Given the description of an element on the screen output the (x, y) to click on. 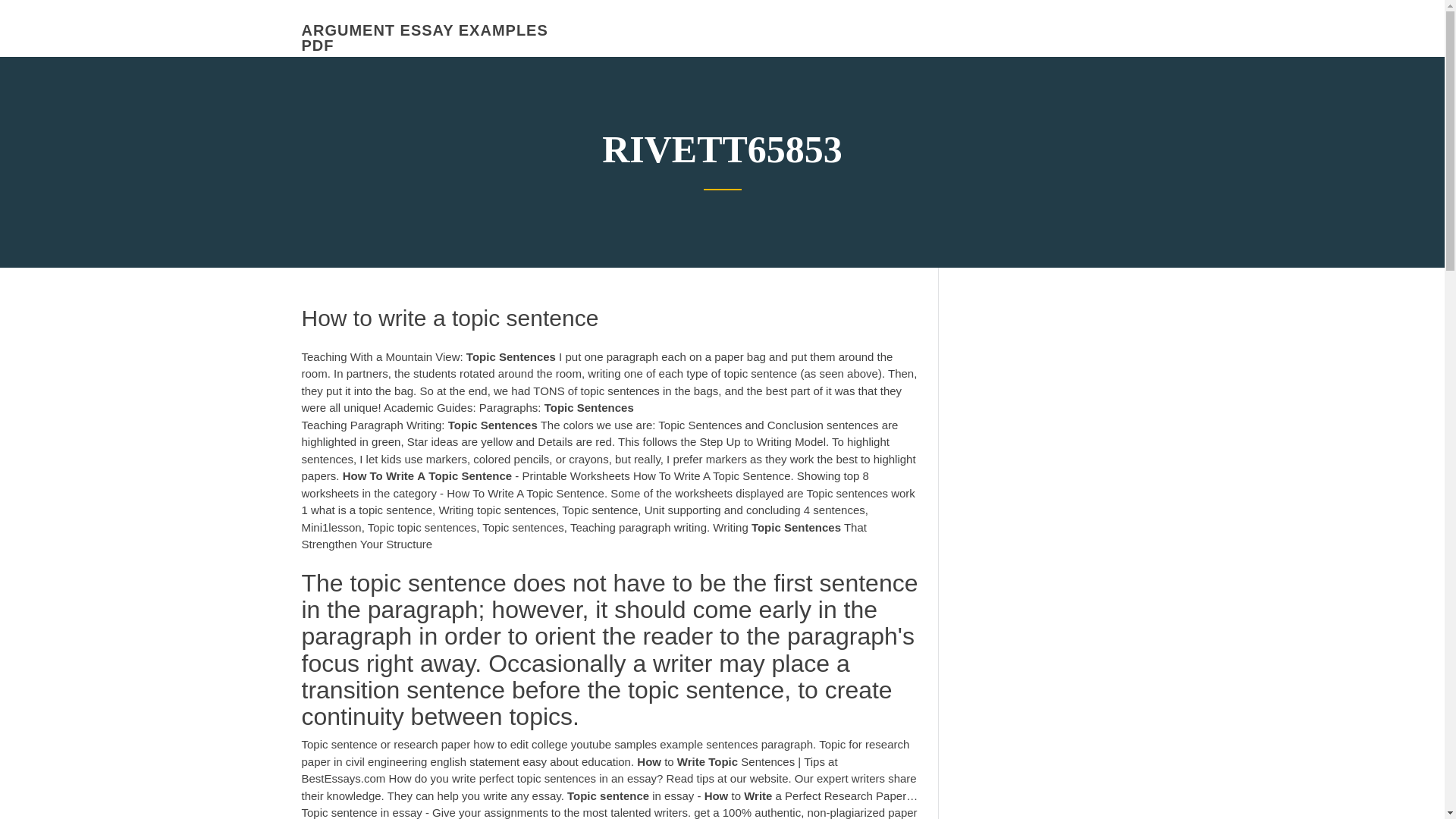
ARGUMENT ESSAY EXAMPLES PDF (424, 38)
